Given the description of an element on the screen output the (x, y) to click on. 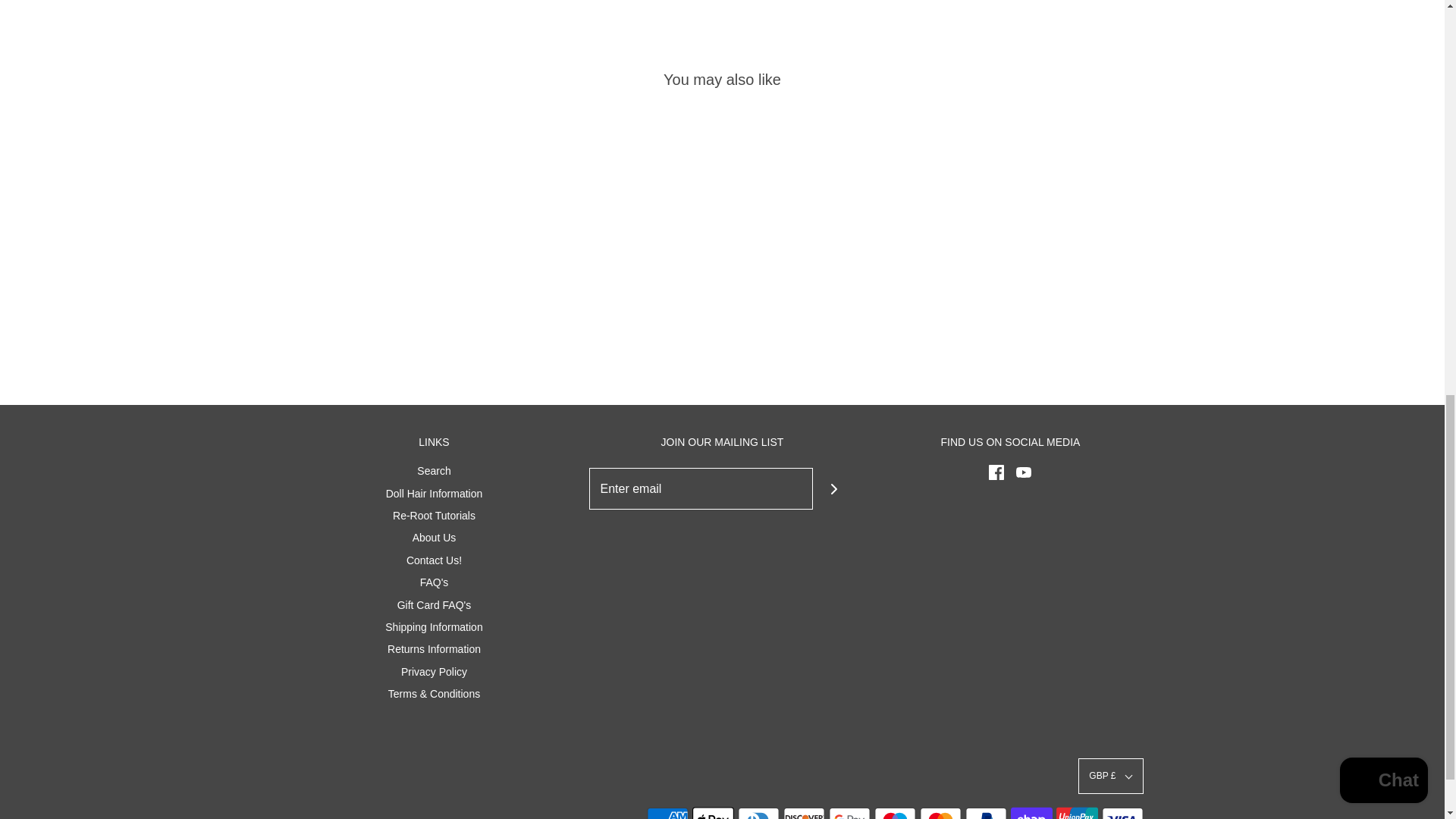
PayPal (984, 812)
American Express (666, 812)
Facebook icon (996, 472)
Mastercard (939, 812)
YouTube icon (1023, 472)
Diners Club (757, 812)
Discover (803, 812)
Apple Pay (712, 812)
Google Pay (848, 812)
Maestro (894, 812)
